Given the description of an element on the screen output the (x, y) to click on. 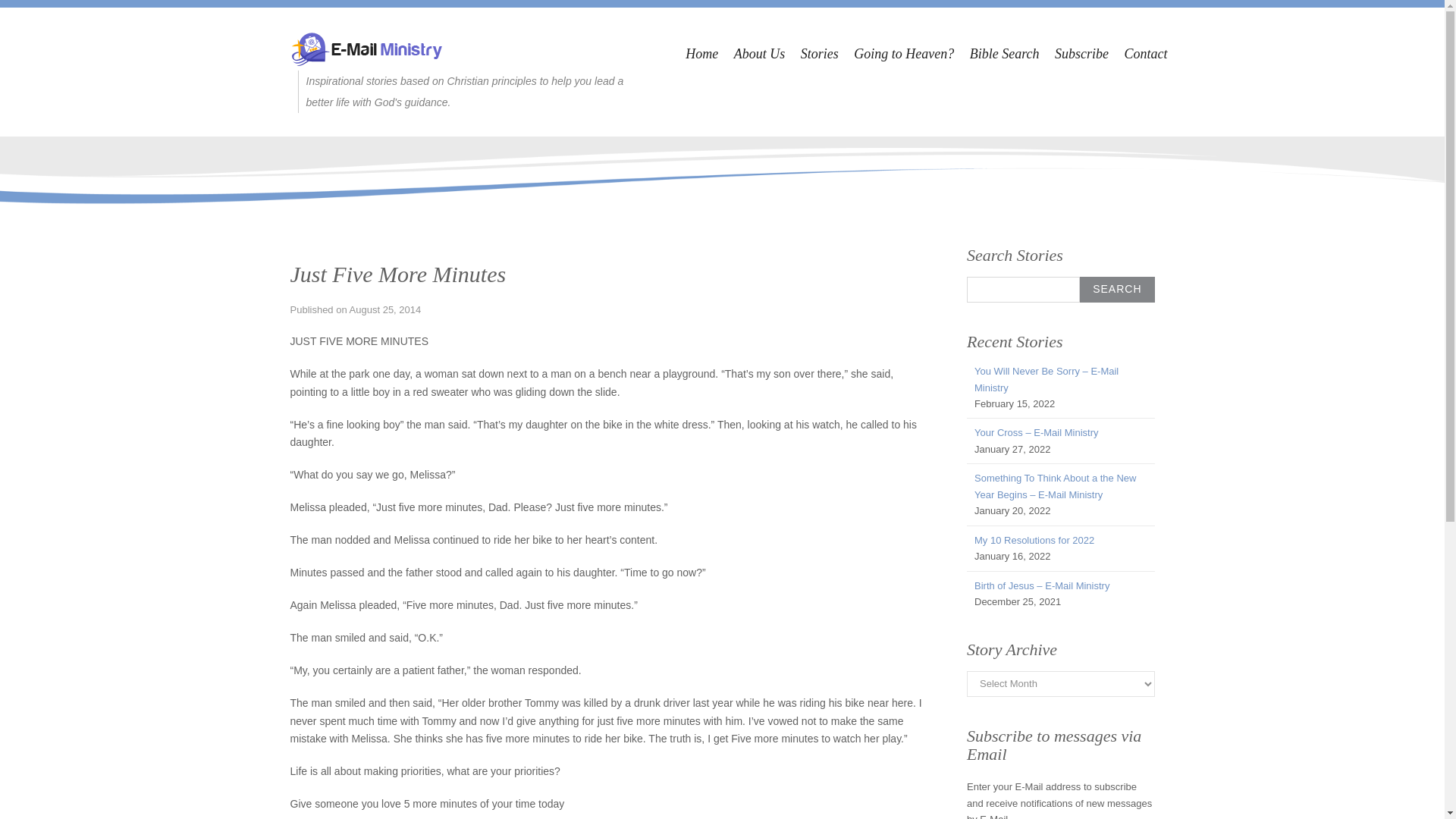
Home (701, 53)
My 10 Resolutions for 2022 (1034, 540)
Search (1117, 289)
Stories (819, 53)
Going to Heaven? (903, 53)
Contact (1145, 53)
Subscribe (1081, 53)
Search (1117, 289)
About Us (760, 53)
Bible Search (1004, 53)
